Given the description of an element on the screen output the (x, y) to click on. 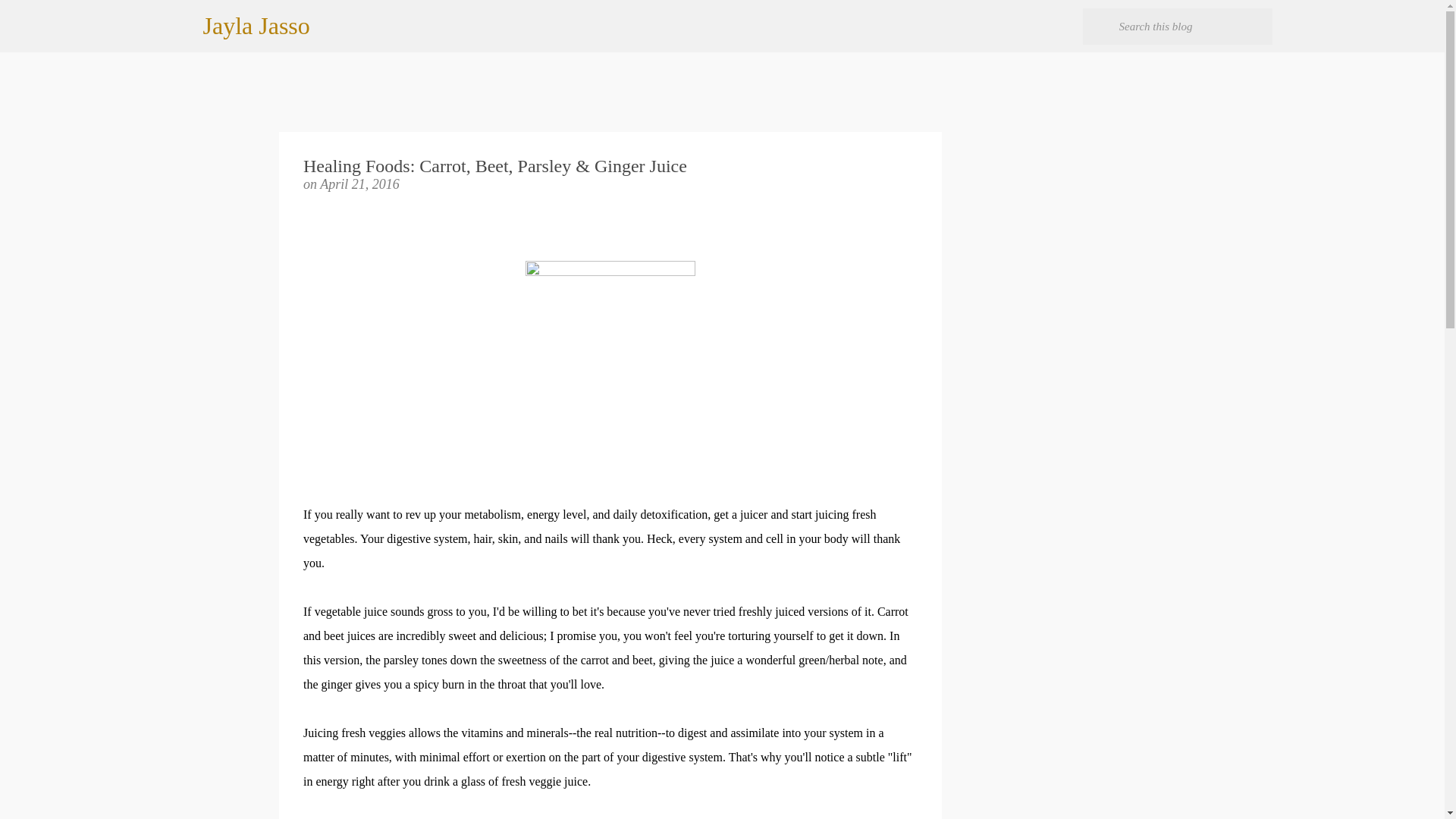
permanent link (359, 183)
Jayla Jasso (256, 25)
April 21, 2016 (359, 183)
